Given the description of an element on the screen output the (x, y) to click on. 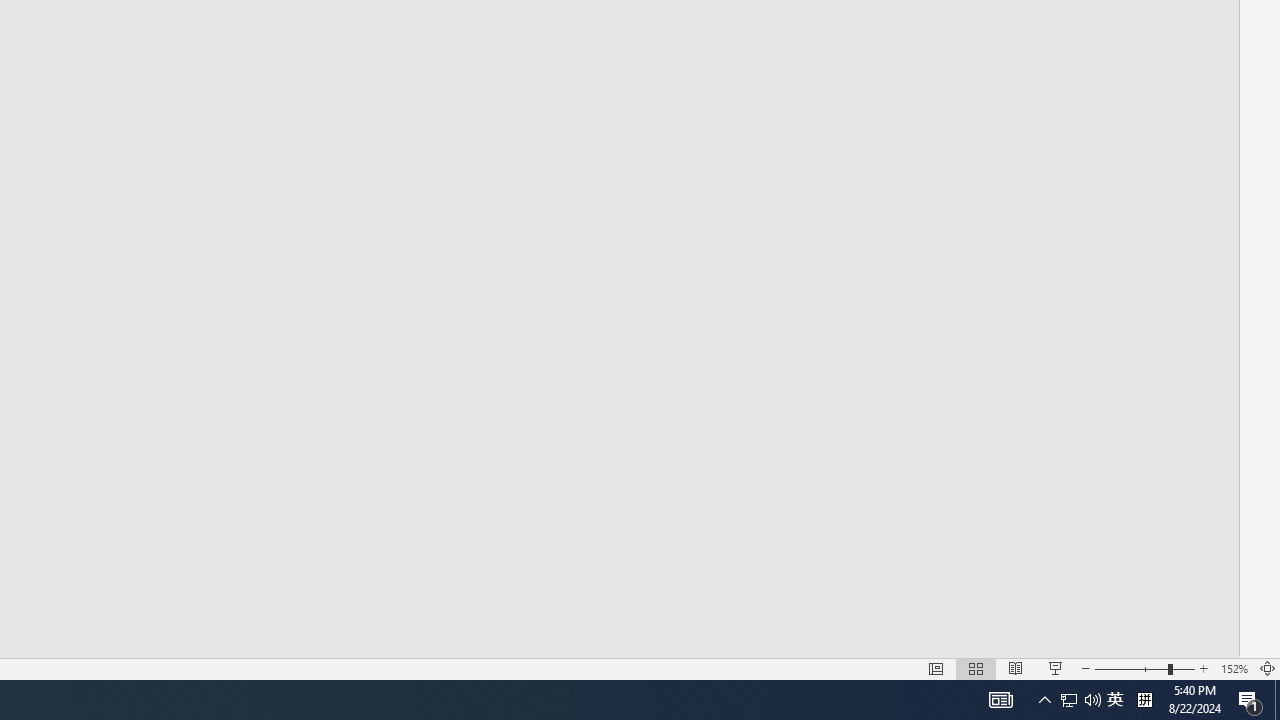
Zoom 152% (1234, 668)
